Given the description of an element on the screen output the (x, y) to click on. 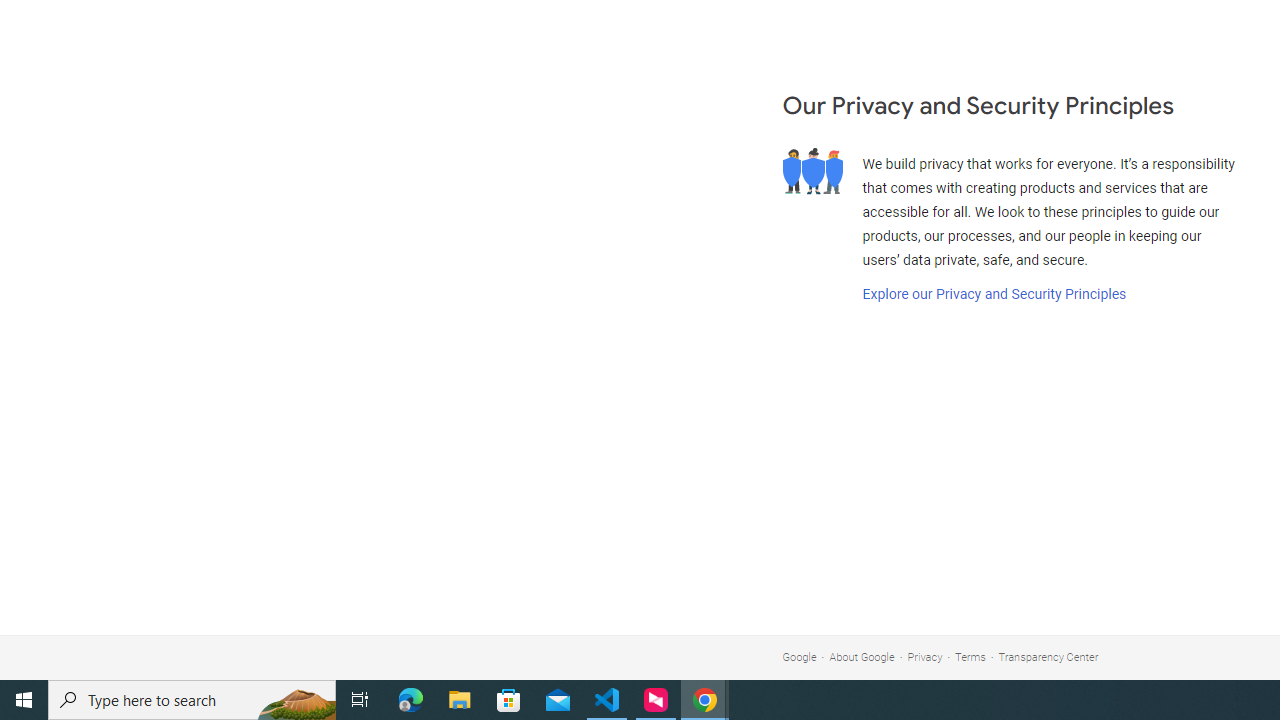
Google (799, 656)
Privacy (925, 656)
About Google (861, 656)
Explore our Privacy and Security Principles (993, 294)
Terms (969, 656)
Transparency Center (1048, 656)
